Given the description of an element on the screen output the (x, y) to click on. 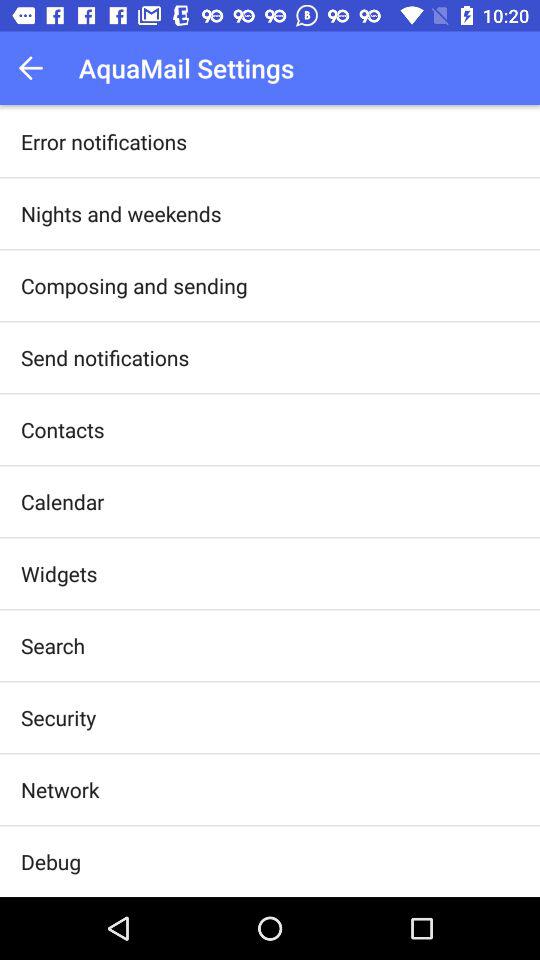
scroll until security icon (58, 717)
